Given the description of an element on the screen output the (x, y) to click on. 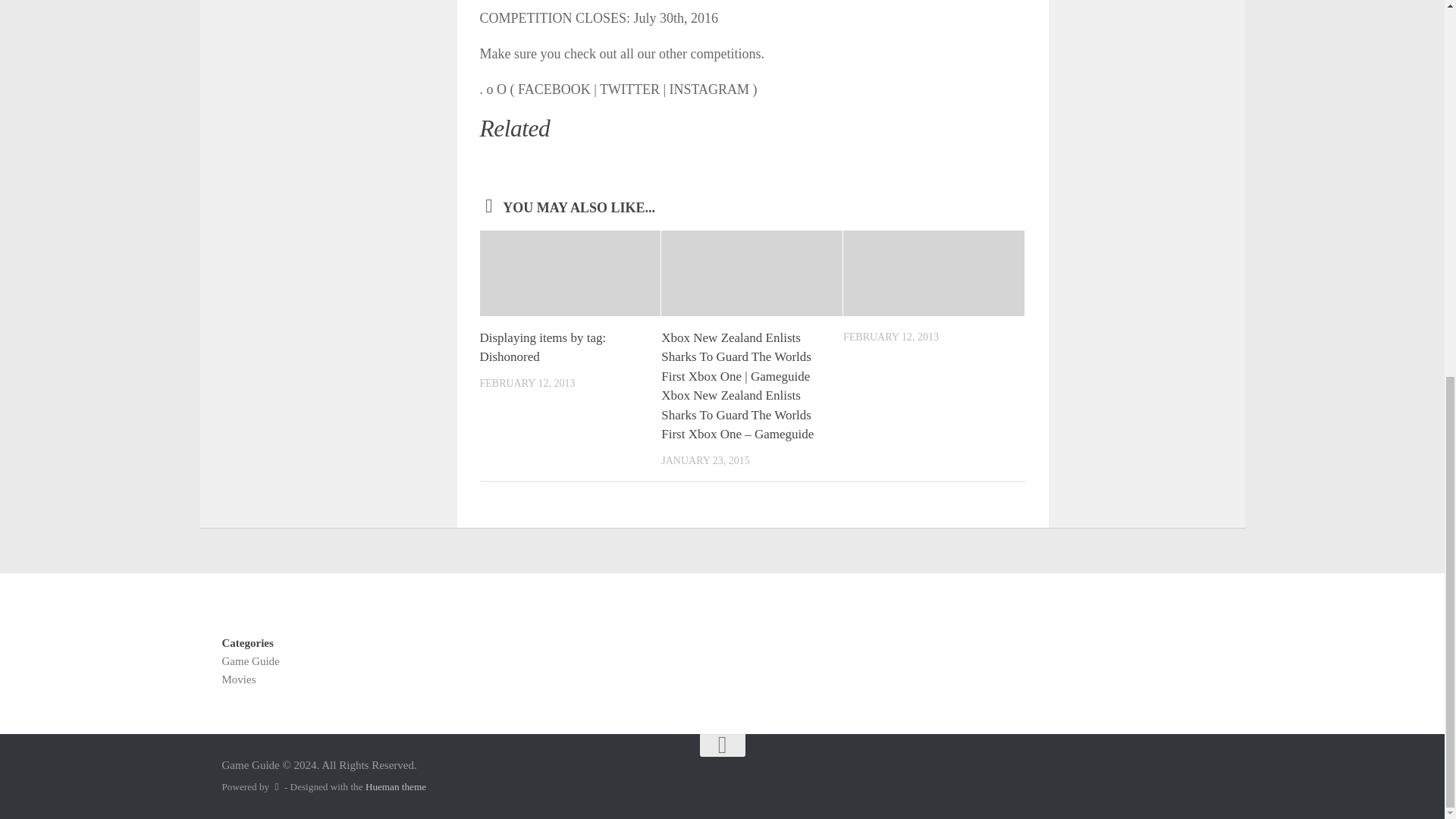
Game Guide (250, 661)
Movies (238, 679)
Hueman theme (395, 786)
Displaying items by tag: Dishonored (542, 347)
Hueman theme (395, 786)
Powered by WordPress (275, 786)
